Given the description of an element on the screen output the (x, y) to click on. 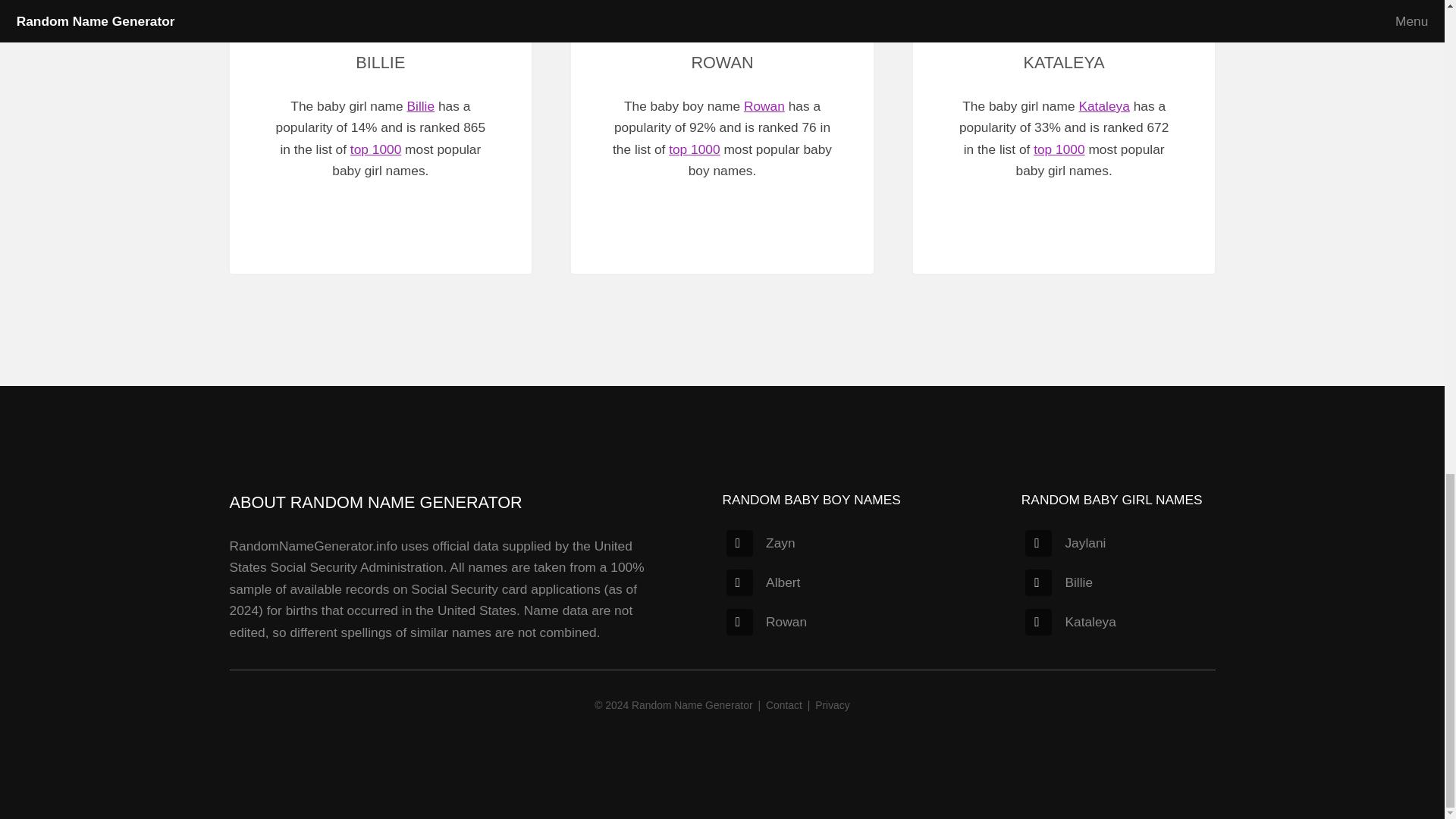
Kataleya (1103, 105)
top 1000 (1058, 149)
Rowan (764, 105)
Billie (419, 105)
 Zayn (760, 542)
 Albert (762, 581)
 Jaylani (1065, 542)
Privacy (831, 705)
 Kataleya (1070, 621)
Random Name Generator (691, 705)
 Billie (1059, 581)
top 1000 (375, 149)
 Rowan (766, 621)
top 1000 (693, 149)
Contact (783, 705)
